Given the description of an element on the screen output the (x, y) to click on. 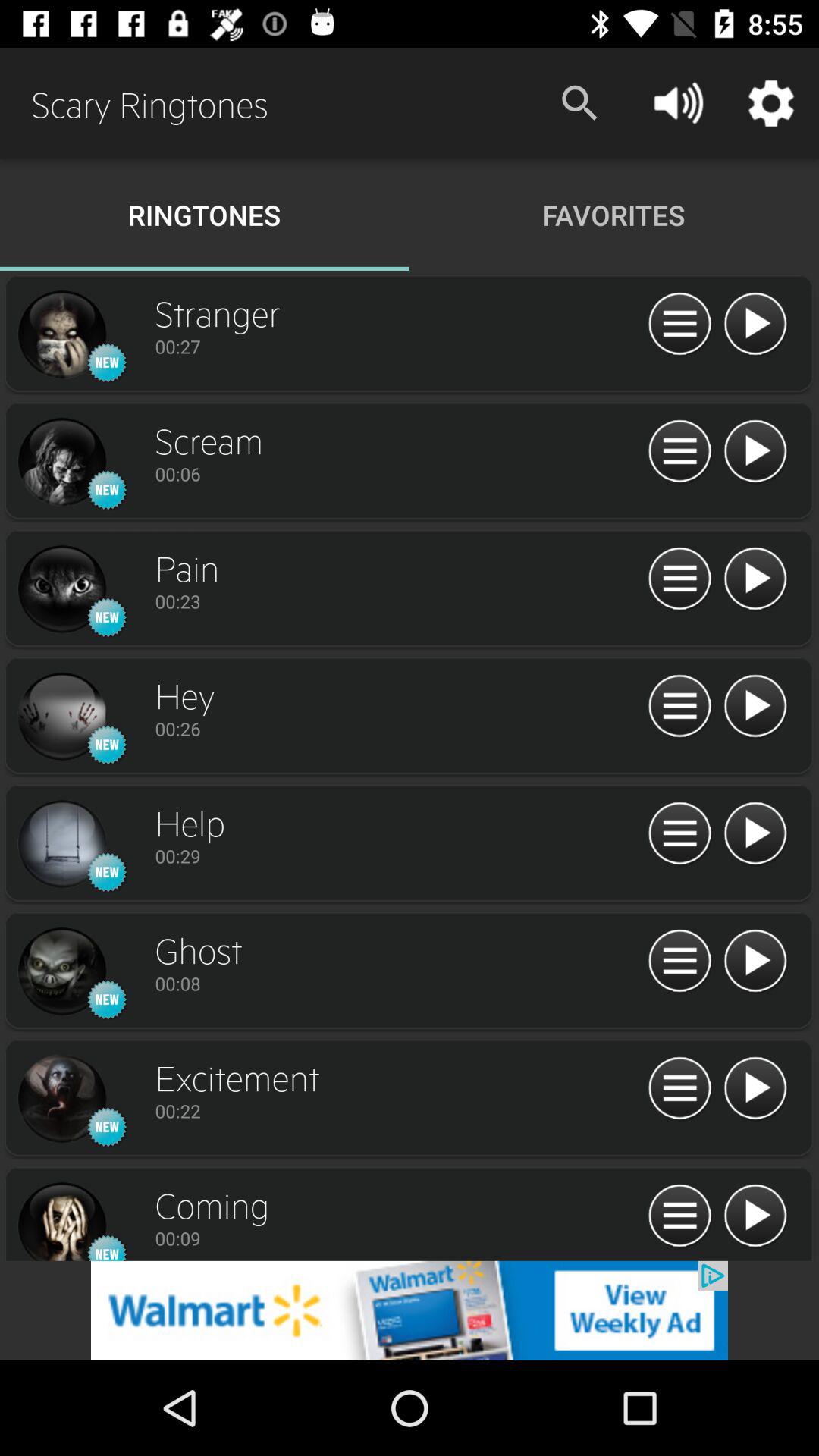
play (755, 961)
